Given the description of an element on the screen output the (x, y) to click on. 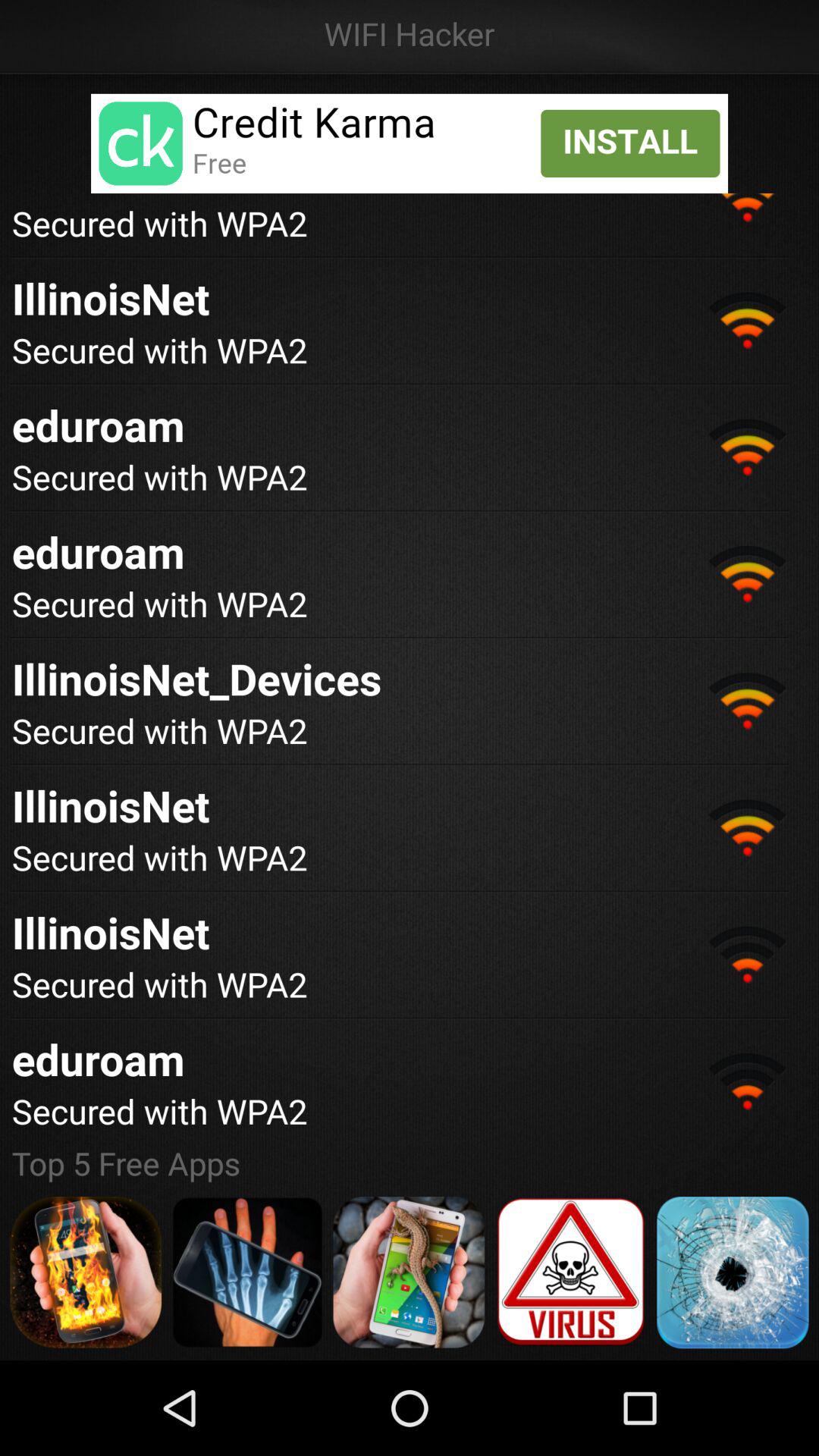
game page (247, 1271)
